Given the description of an element on the screen output the (x, y) to click on. 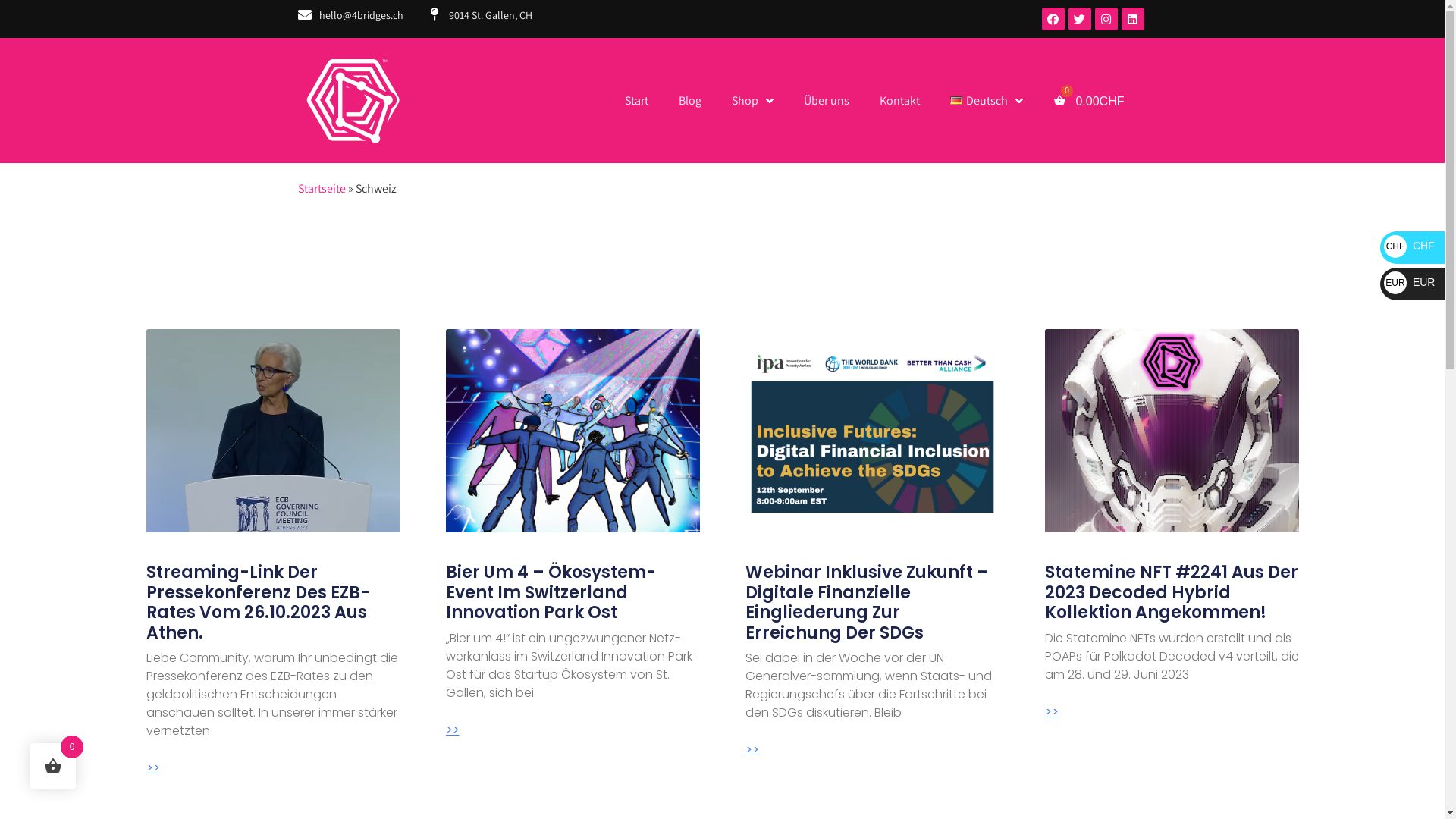
Startseite Element type: text (321, 188)
4cash_symbol_white Element type: hover (351, 100)
Blog Element type: text (689, 99)
Kontakt Element type: text (899, 99)
Start Element type: text (636, 99)
>> Element type: text (751, 749)
Shop Element type: text (752, 99)
>> Element type: text (152, 768)
>> Element type: text (1051, 712)
>> Element type: text (452, 730)
EUR EUR Element type: text (1408, 282)
0.00CHF Element type: text (1088, 99)
CHF CHF Element type: text (1408, 245)
Deutsch Element type: text (986, 99)
